Given the description of an element on the screen output the (x, y) to click on. 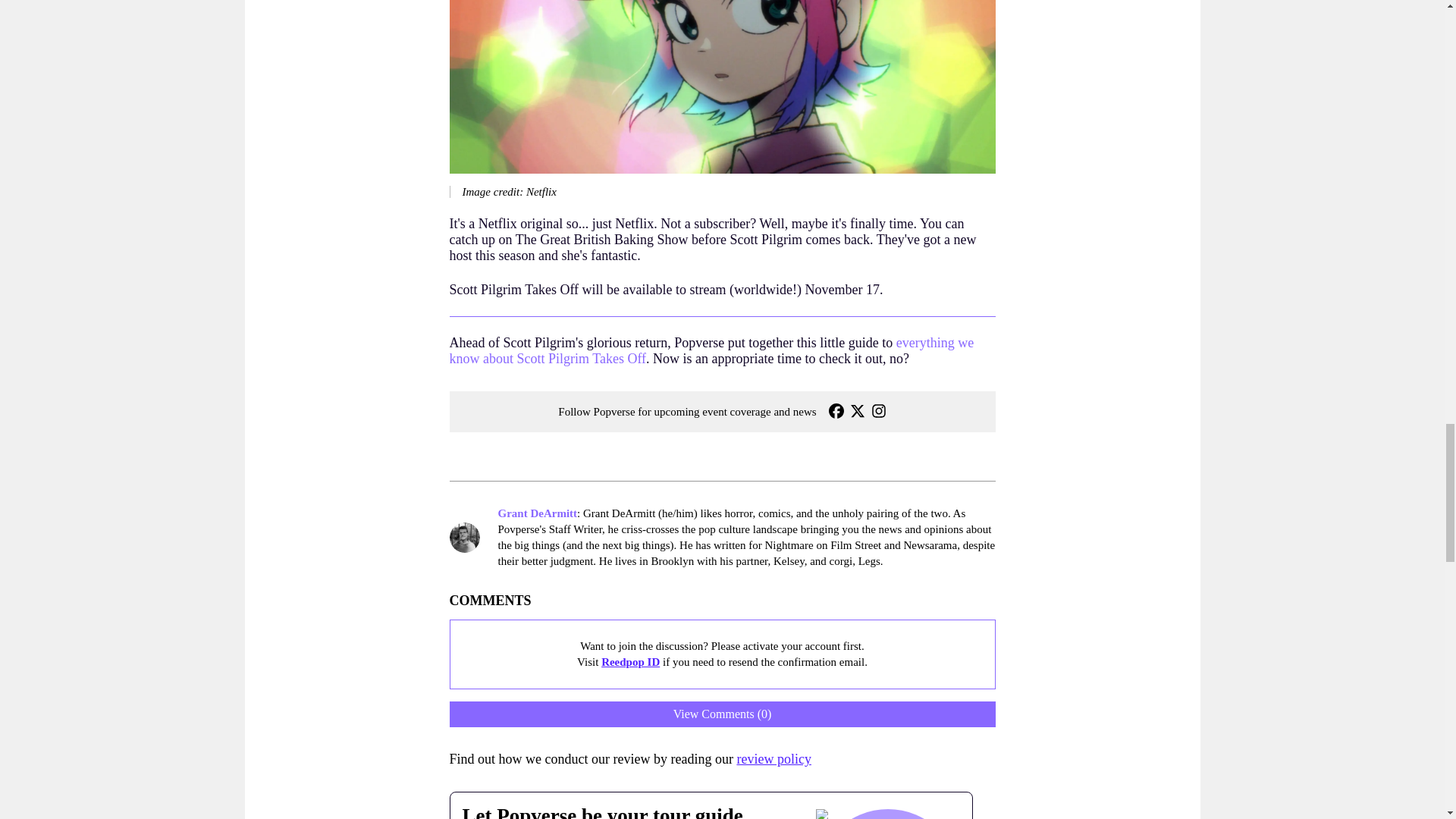
review policy (773, 758)
everything we know about Scott Pilgrim Takes Off (711, 350)
Grant DeArmitt (536, 512)
